Given the description of an element on the screen output the (x, y) to click on. 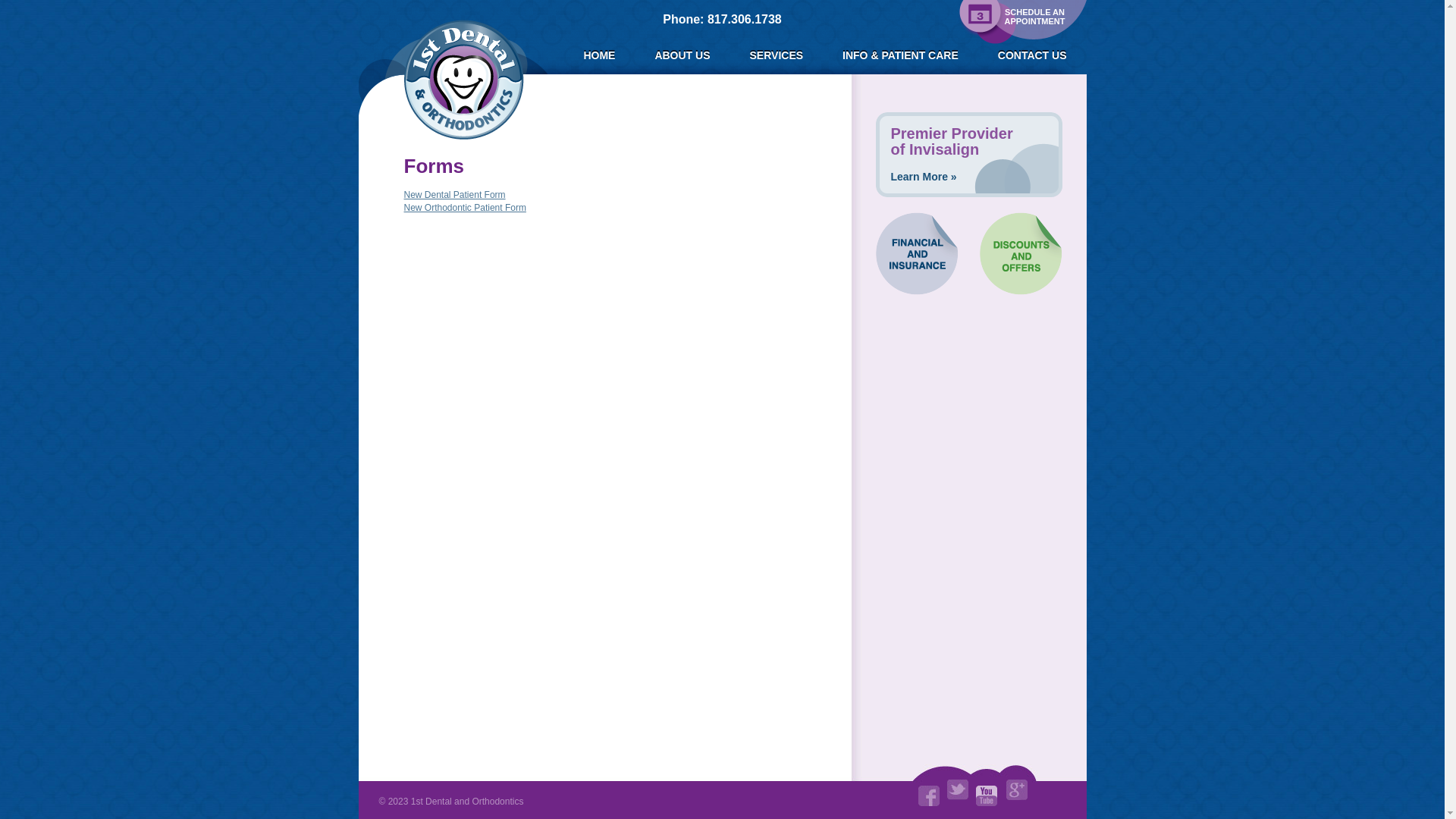
CONTACT US Element type: text (1032, 55)
HOME Element type: text (598, 55)
ABOUT US Element type: text (681, 55)
New Dental Patient Form Element type: text (454, 194)
INFO & PATIENT CARE Element type: text (900, 55)
SCHEDULE AN
APPOINTMENT Element type: text (1021, 21)
SERVICES Element type: text (776, 55)
New Orthodontic Patient Form Element type: text (464, 207)
